Given the description of an element on the screen output the (x, y) to click on. 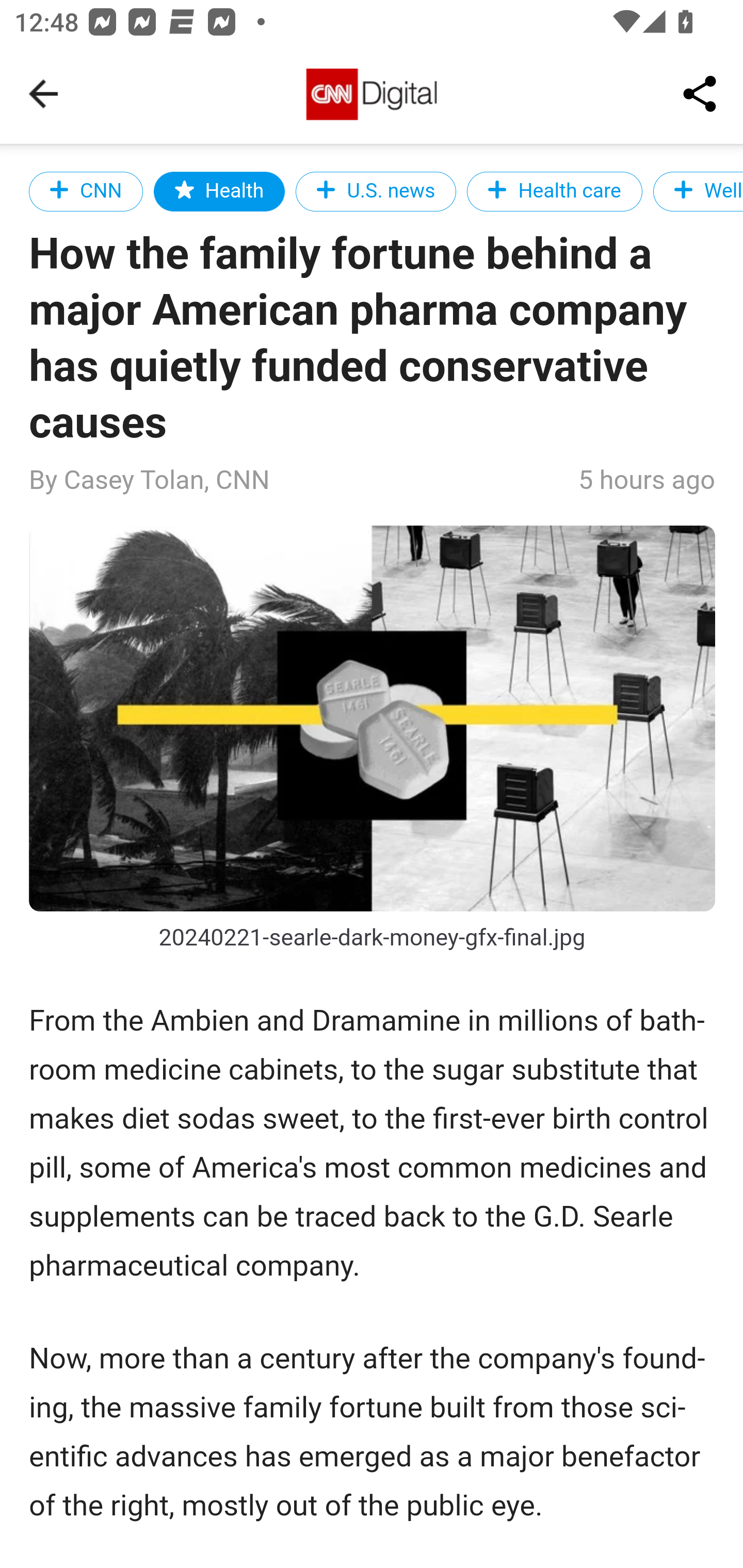
CNN (86, 191)
Health (219, 191)
U.S. news (375, 191)
Health care (553, 191)
